Given the description of an element on the screen output the (x, y) to click on. 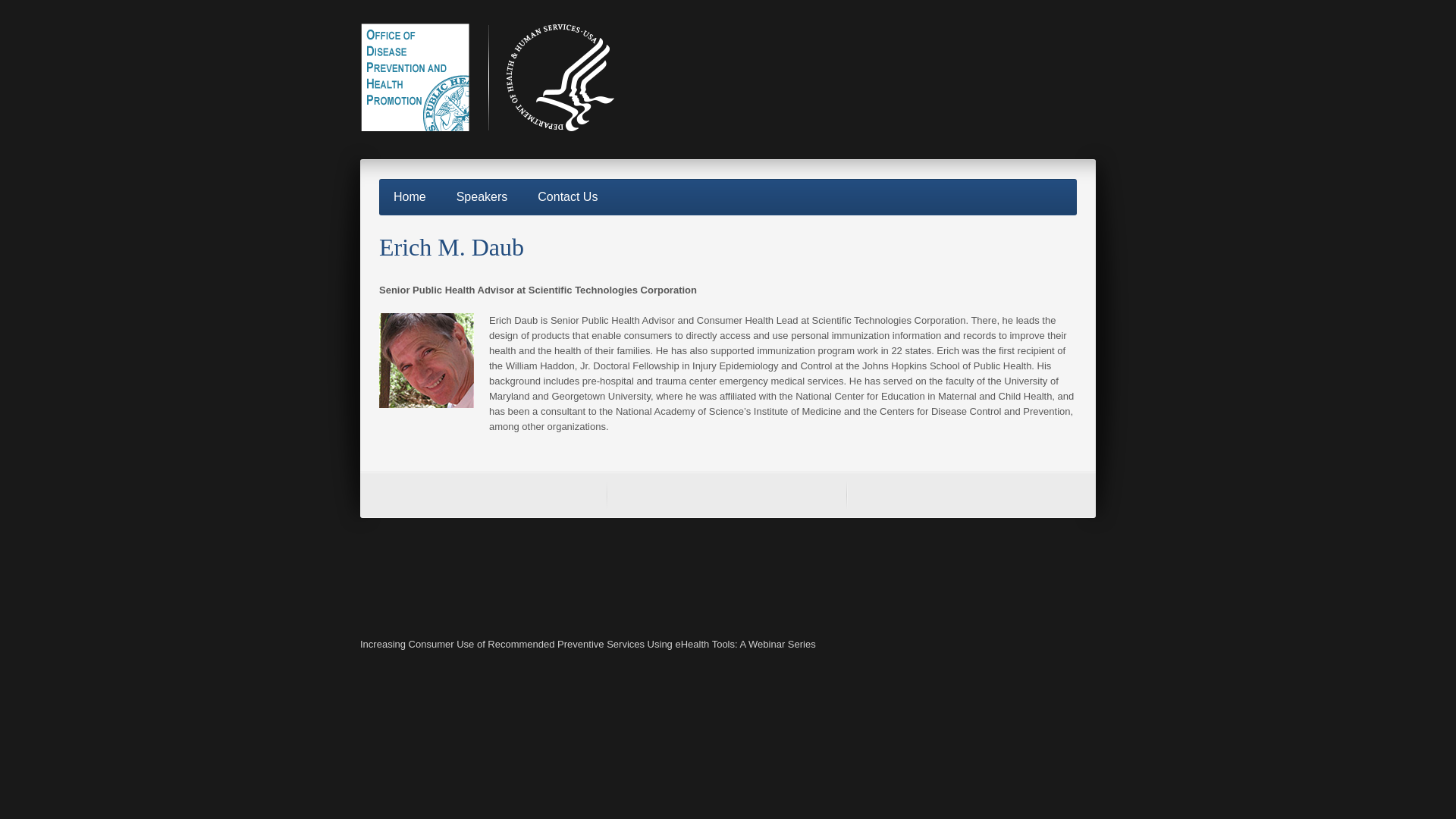
Speakers (482, 196)
Home (409, 196)
Contact Us (566, 196)
